Given the description of an element on the screen output the (x, y) to click on. 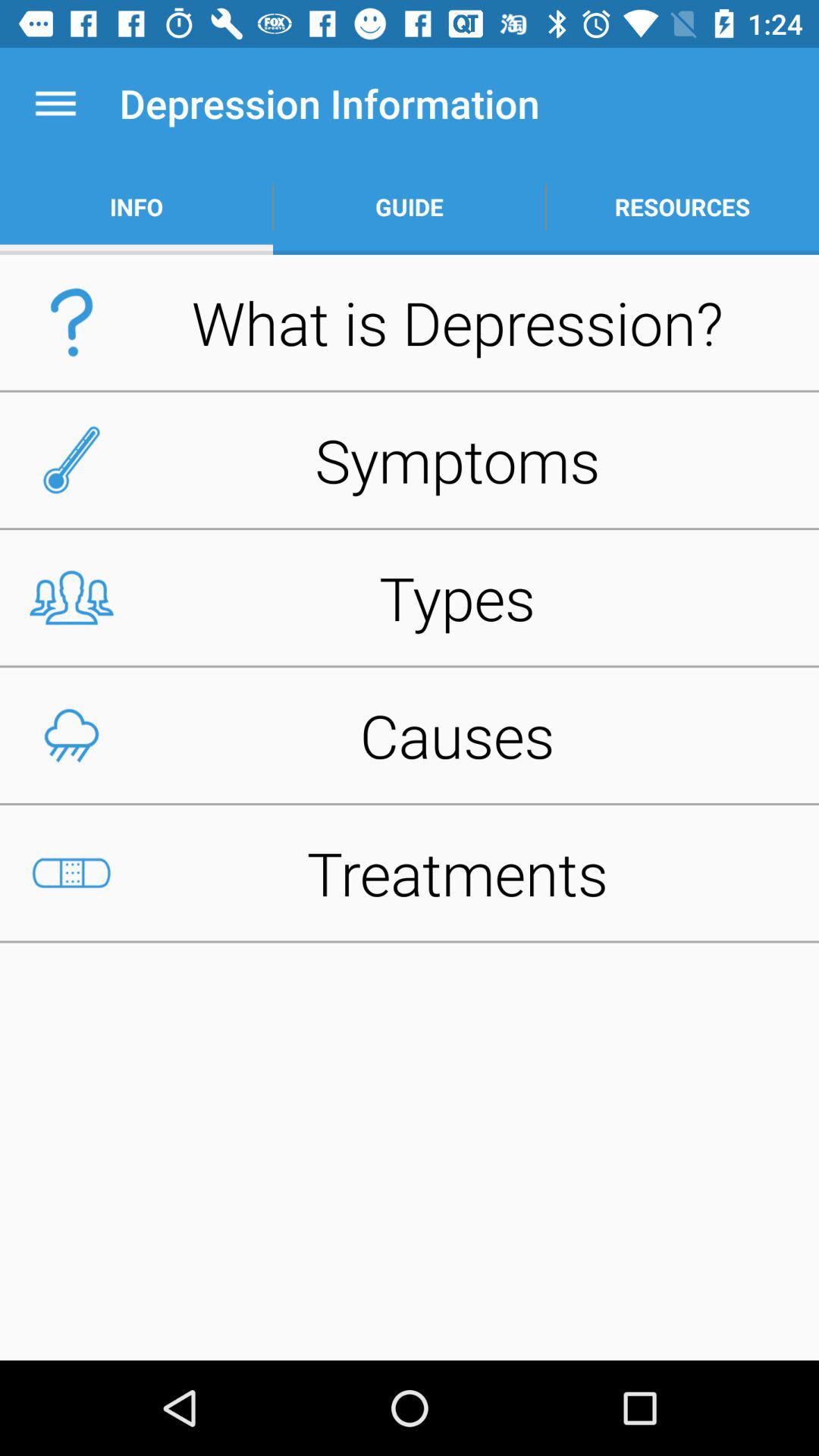
select app to the left of depression information item (55, 103)
